Given the description of an element on the screen output the (x, y) to click on. 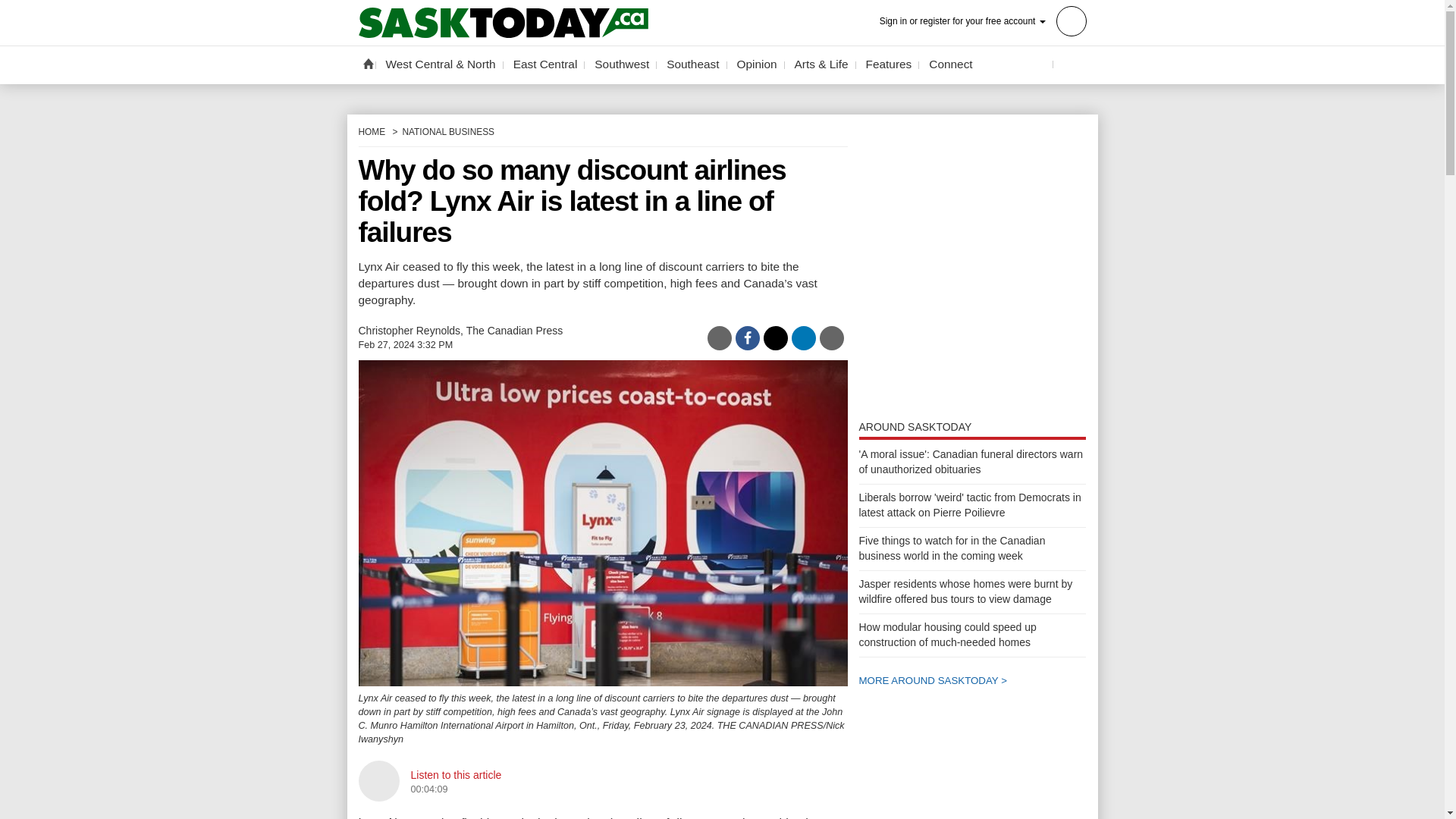
Sign in or register for your free account (982, 20)
East Central (545, 64)
Home (367, 63)
Southwest (622, 64)
